Given the description of an element on the screen output the (x, y) to click on. 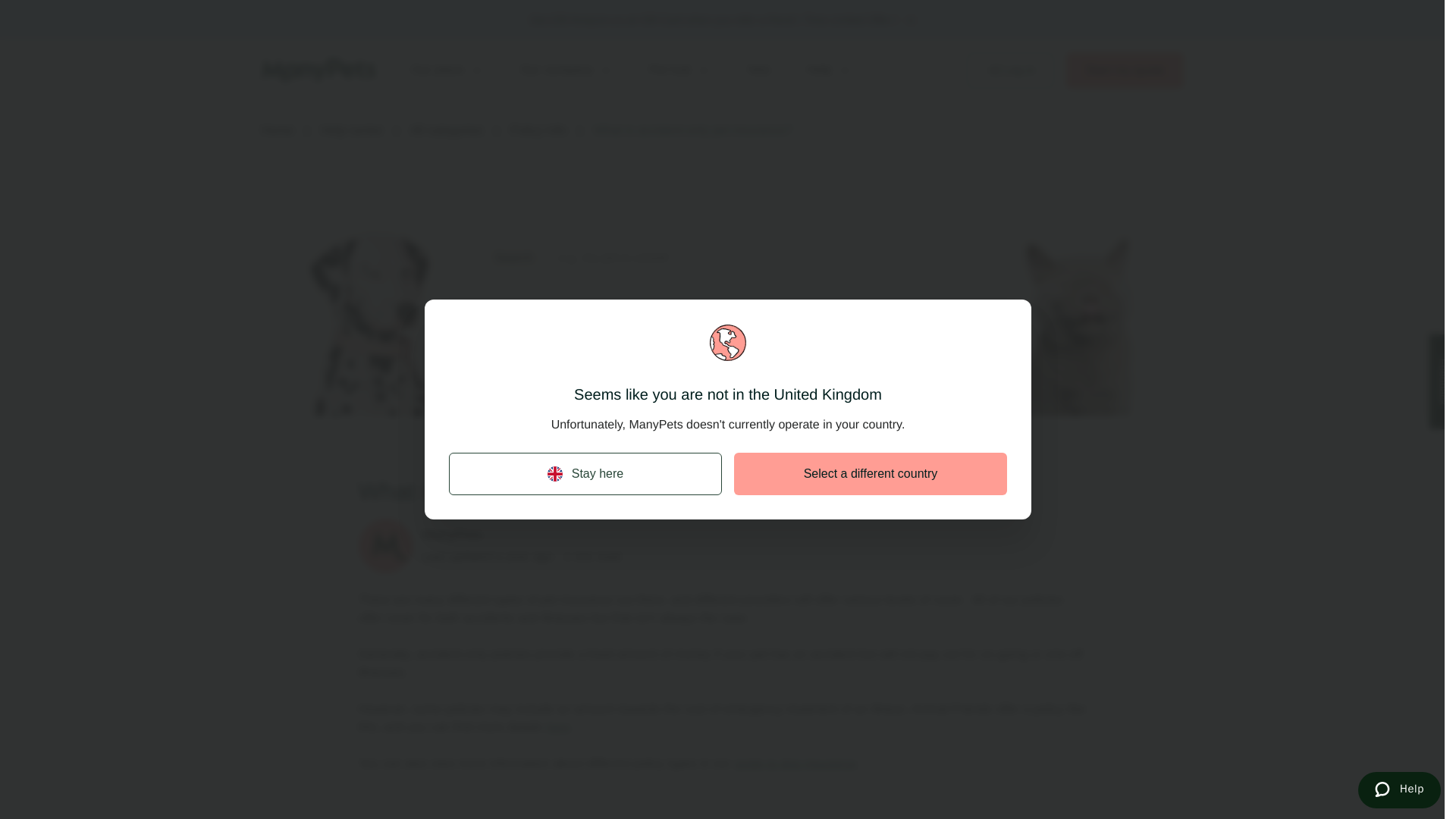
Start my quote (1123, 70)
Our company (566, 70)
Vets (759, 70)
Pet hub (679, 70)
Log in (1010, 70)
Our plans (446, 70)
Help (829, 70)
